Given the description of an element on the screen output the (x, y) to click on. 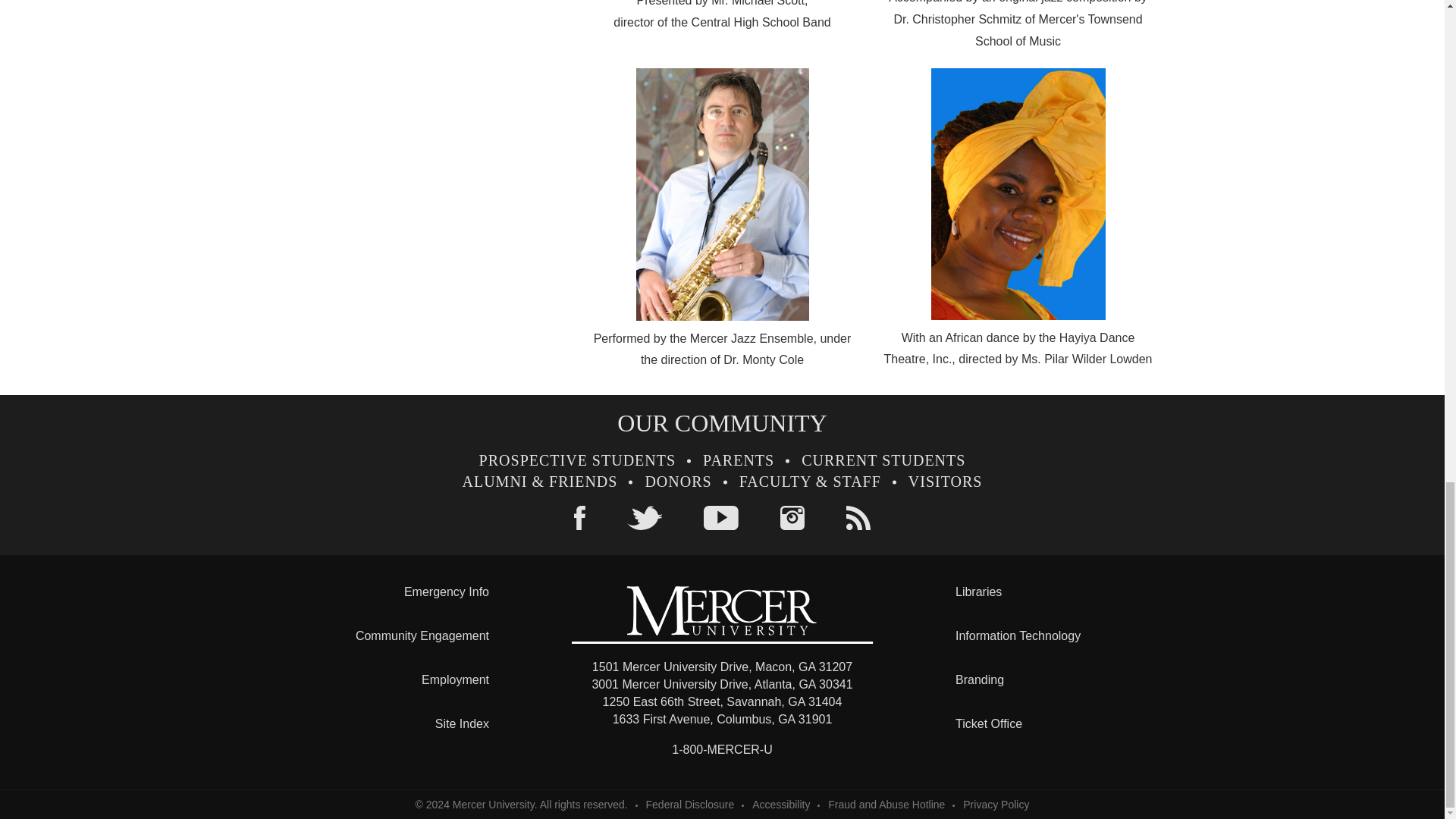
Community Engagement (422, 635)
CURRENT STUDENTS (883, 460)
PARENTS (738, 460)
DONORS (678, 481)
VISITORS (945, 481)
Emergency Info (446, 591)
PROSPECTIVE STUDENTS (577, 460)
